Given the description of an element on the screen output the (x, y) to click on. 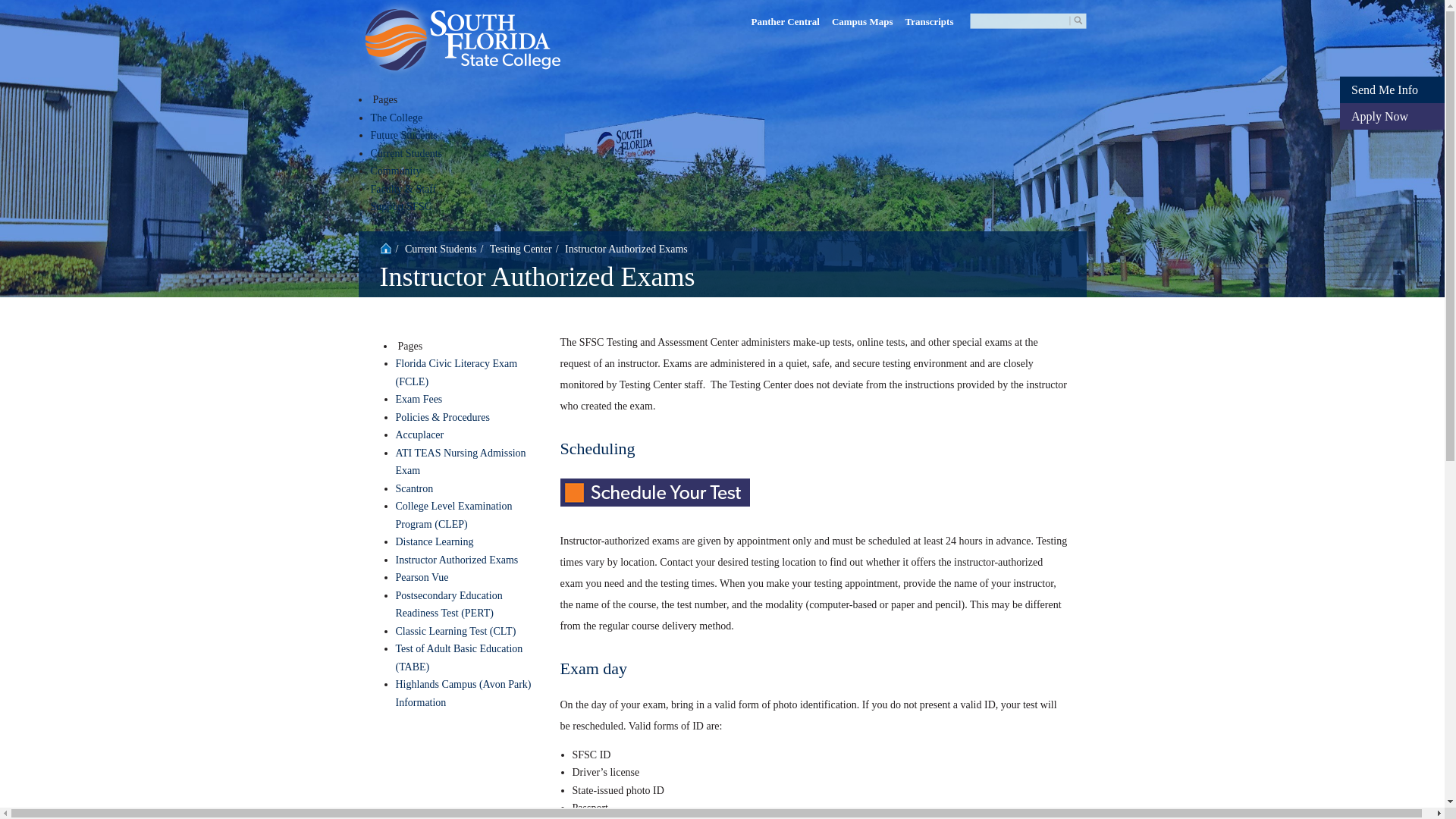
Transcripts (928, 21)
Send Me Info (1391, 89)
Search (1070, 22)
Panther Central (785, 21)
Apply Now (1391, 116)
The College (395, 117)
Search (1070, 22)
Campus Maps (862, 21)
